Given the description of an element on the screen output the (x, y) to click on. 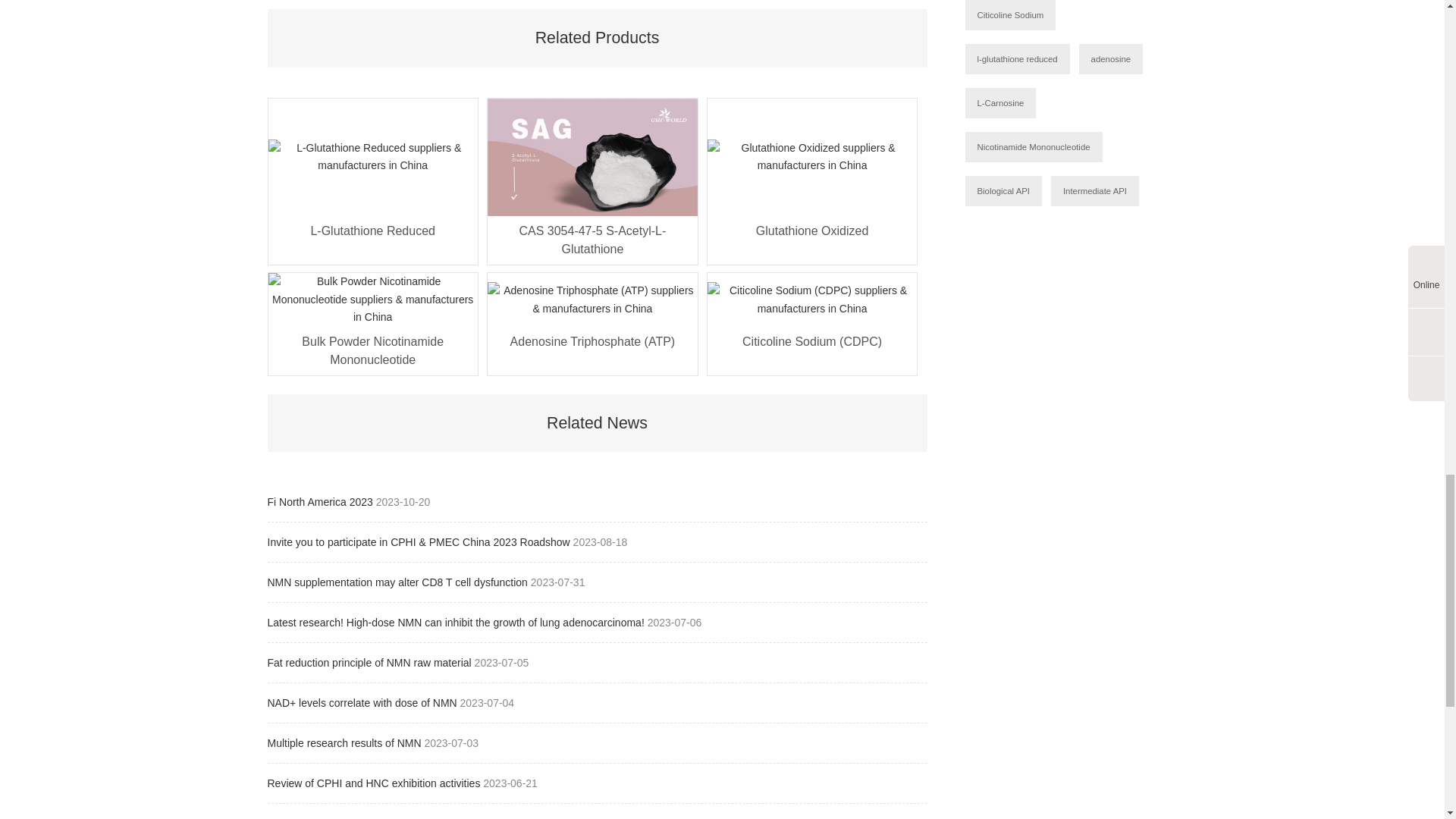
NMN supplementation may alter CD8 T cell dysfunction (397, 582)
Fi North America 2023 (320, 501)
Glutathione Oxidized (812, 239)
Multiple research results of NMN (344, 743)
Fi North America 2023 (320, 501)
CAS 3054-47-5 S-Acetyl-L-Glutathione (591, 239)
Fat reduction principle of NMN raw material (370, 662)
CPHI Invited Speech (317, 818)
